Given the description of an element on the screen output the (x, y) to click on. 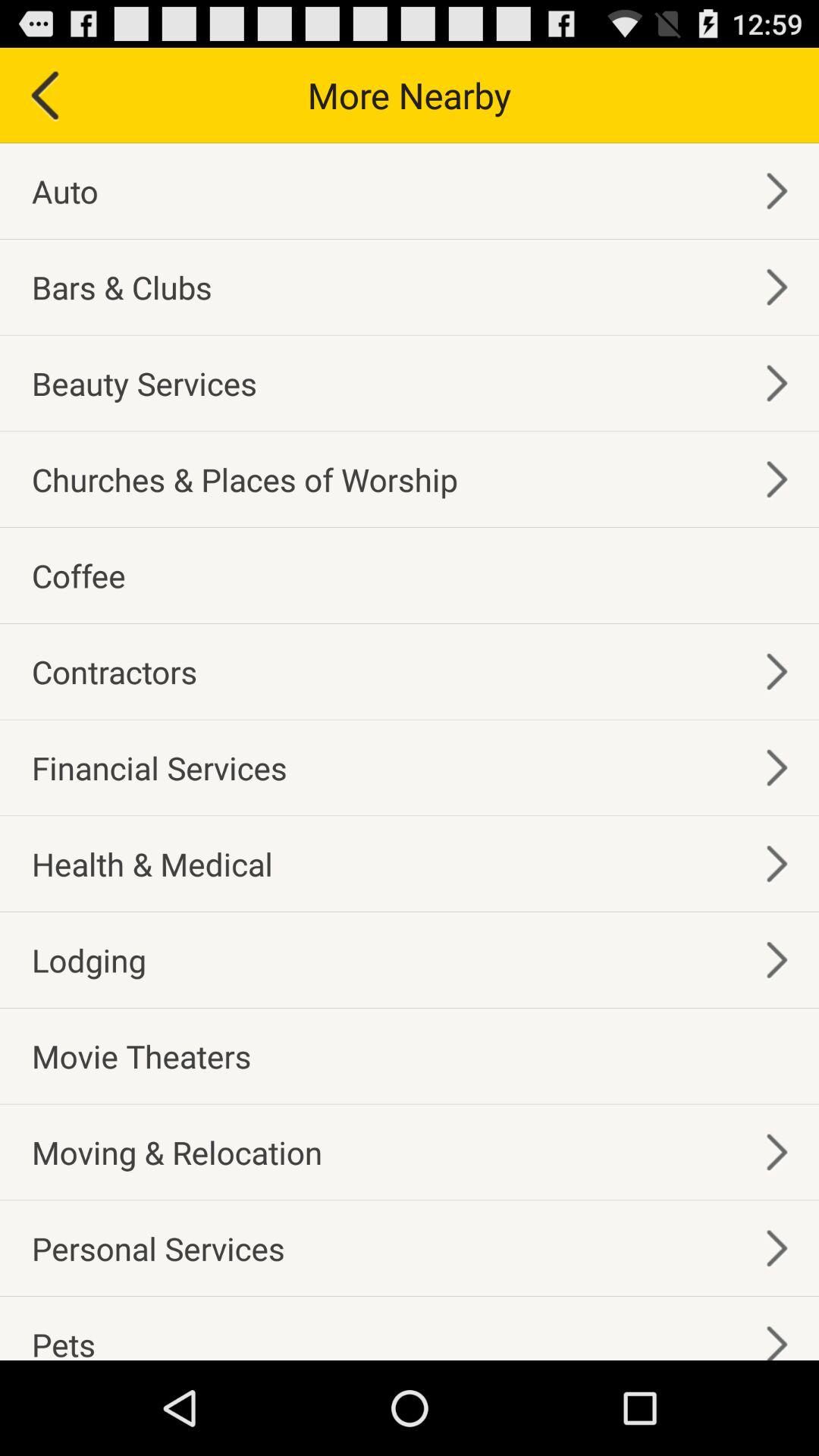
select the beauty services item (144, 382)
